Given the description of an element on the screen output the (x, y) to click on. 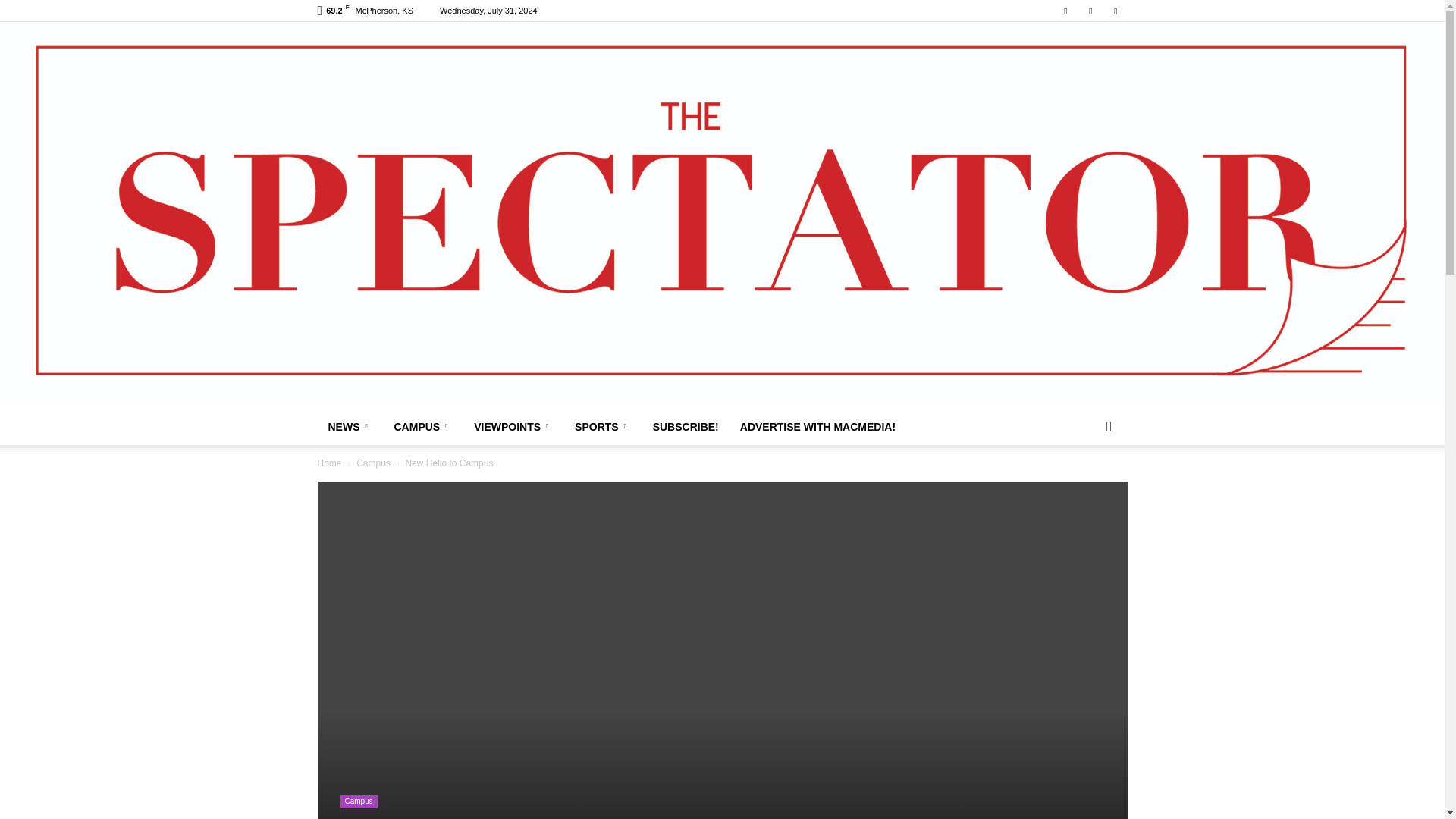
Twitter (1090, 10)
NEWS (349, 426)
Facebook (1065, 10)
Youtube (1114, 10)
CAMPUS (424, 426)
